Given the description of an element on the screen output the (x, y) to click on. 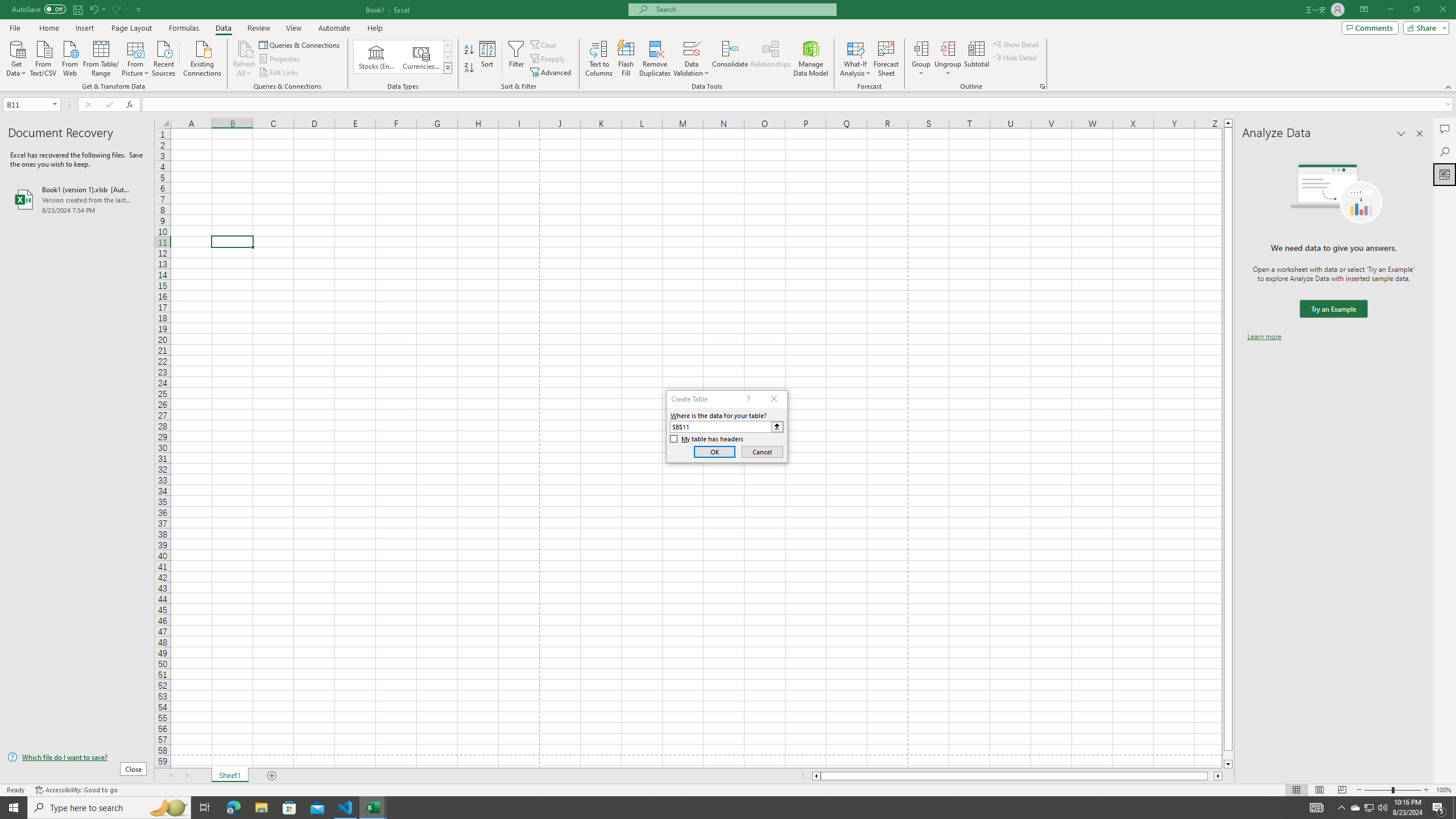
Consolidate... (729, 58)
